Given the description of an element on the screen output the (x, y) to click on. 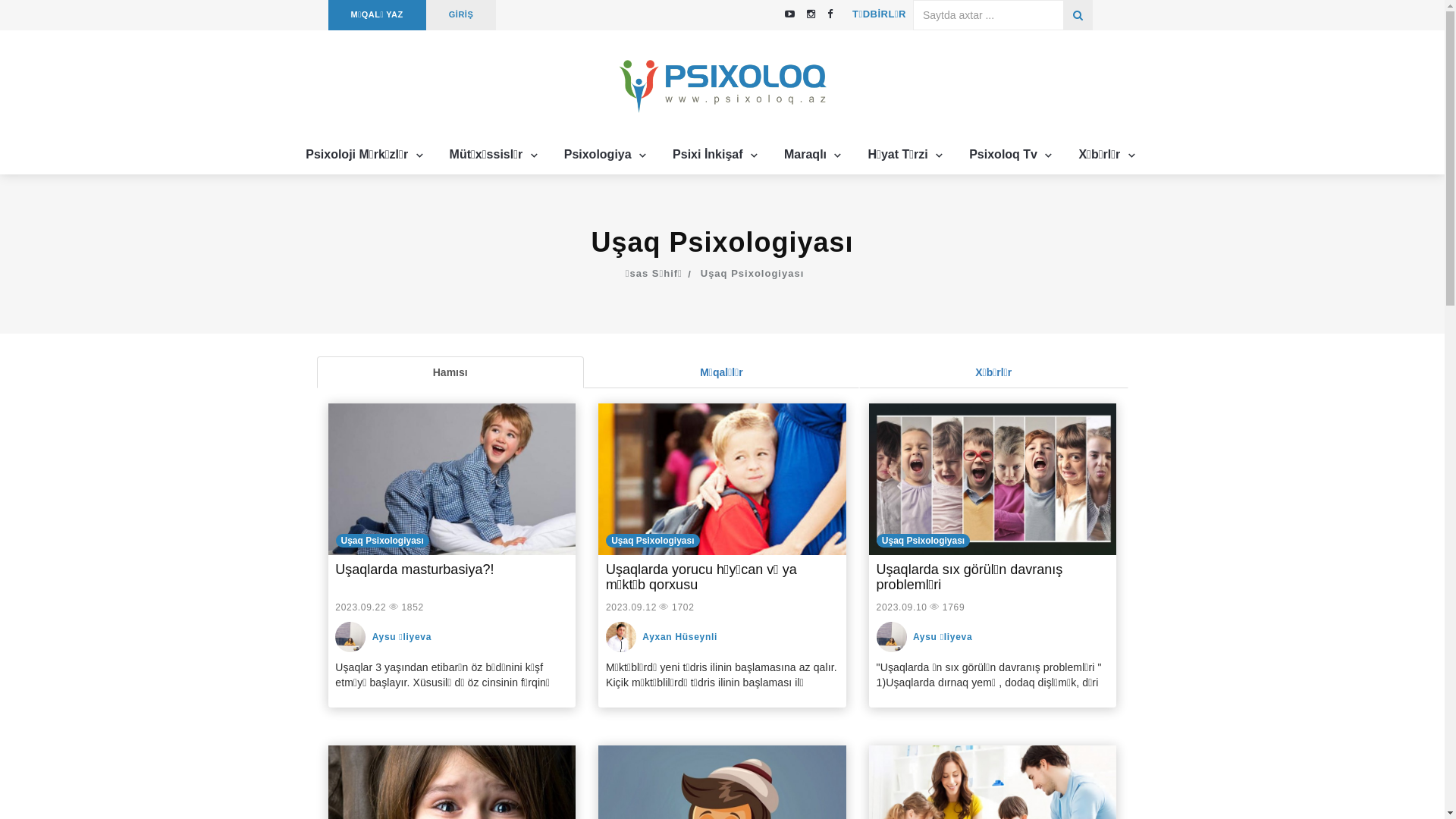
1702 Element type: text (682, 607)
Instagram Element type: hover (810, 14)
2023.09.10 Element type: text (901, 607)
2023.09.12 Element type: text (630, 607)
2023.09.22 Element type: text (360, 607)
Youtube Element type: hover (789, 14)
1852 Element type: text (412, 607)
1769 Element type: text (953, 607)
Psixologiya Element type: text (606, 154)
Psixoloq Tv Element type: text (1011, 154)
